Given the description of an element on the screen output the (x, y) to click on. 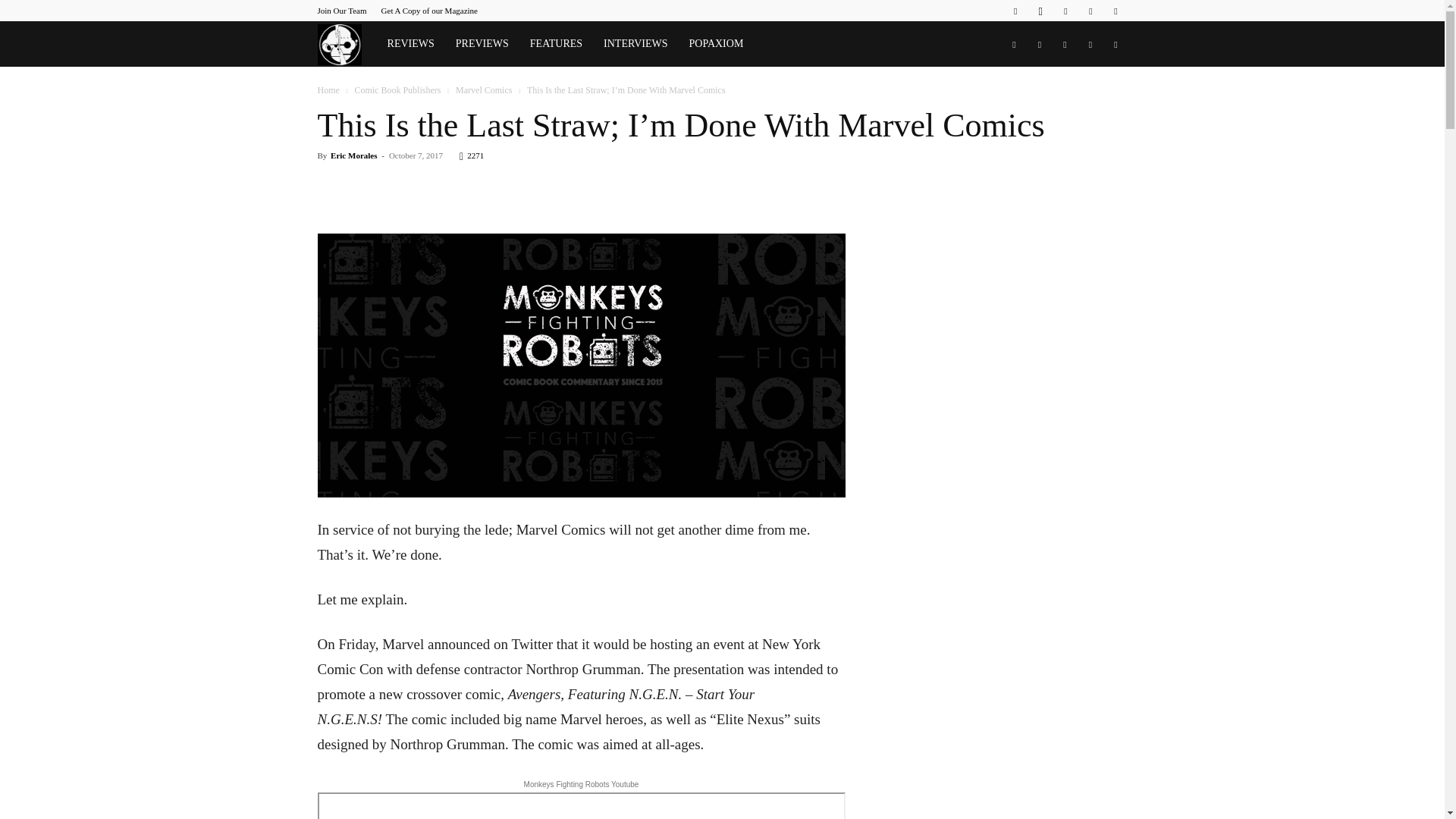
Twitter (1090, 10)
Reddit (1065, 10)
Marvel Comics (483, 90)
Join Our Team (341, 10)
Monkeys Fighting Robots (346, 44)
Facebook (1015, 10)
FEATURES (555, 43)
PREVIEWS (482, 43)
Youtube (1114, 10)
REVIEWS (411, 43)
